Given the description of an element on the screen output the (x, y) to click on. 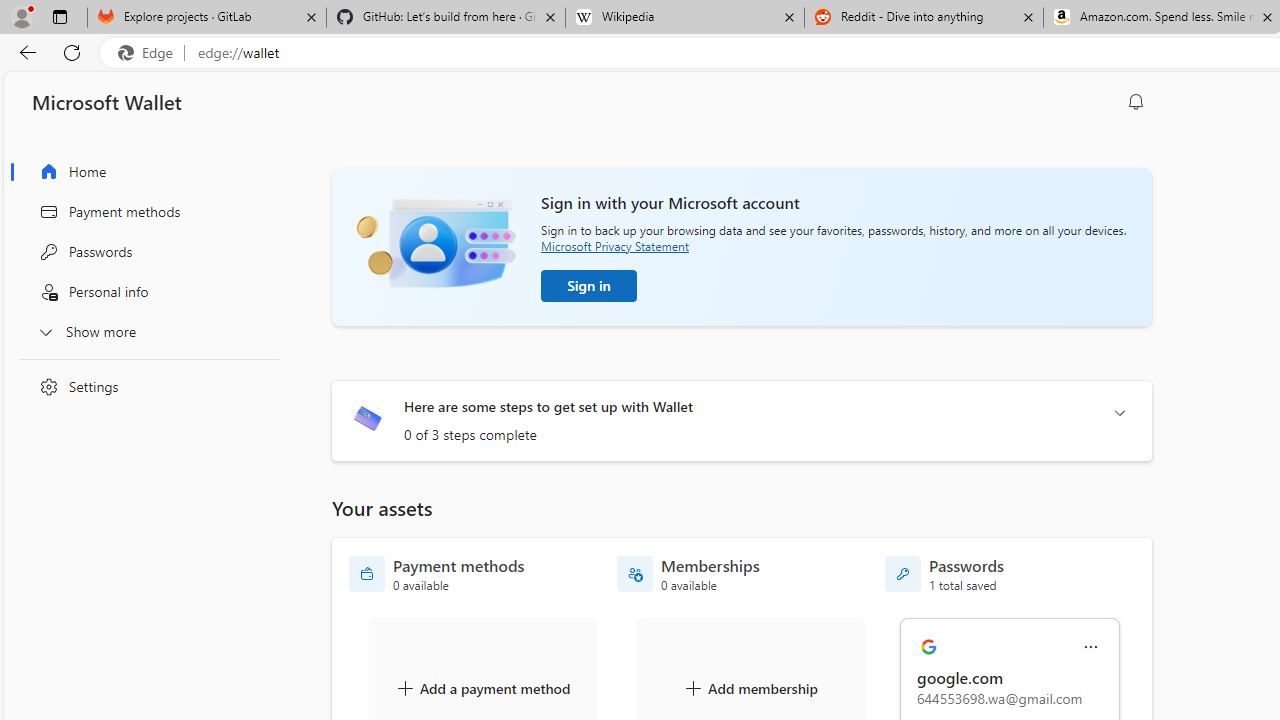
Show more (143, 331)
Sign in (589, 285)
Passwords - 1 total saved (944, 573)
More actions (1091, 647)
Microsoft Privacy Statement (614, 246)
Reddit - Dive into anything (924, 17)
